Given the description of an element on the screen output the (x, y) to click on. 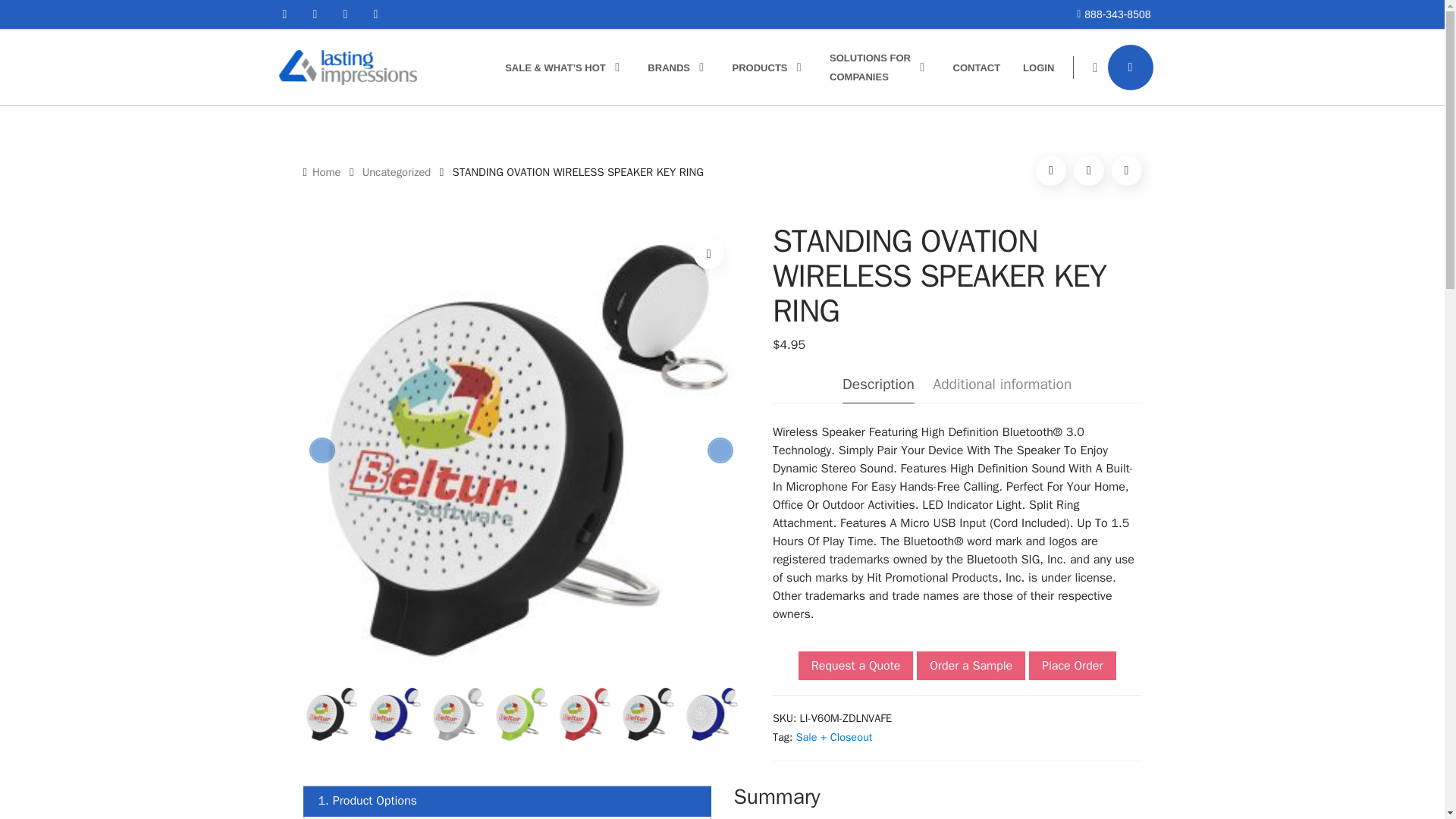
888-343-8508 (1117, 14)
BRANDS (678, 66)
